Given the description of an element on the screen output the (x, y) to click on. 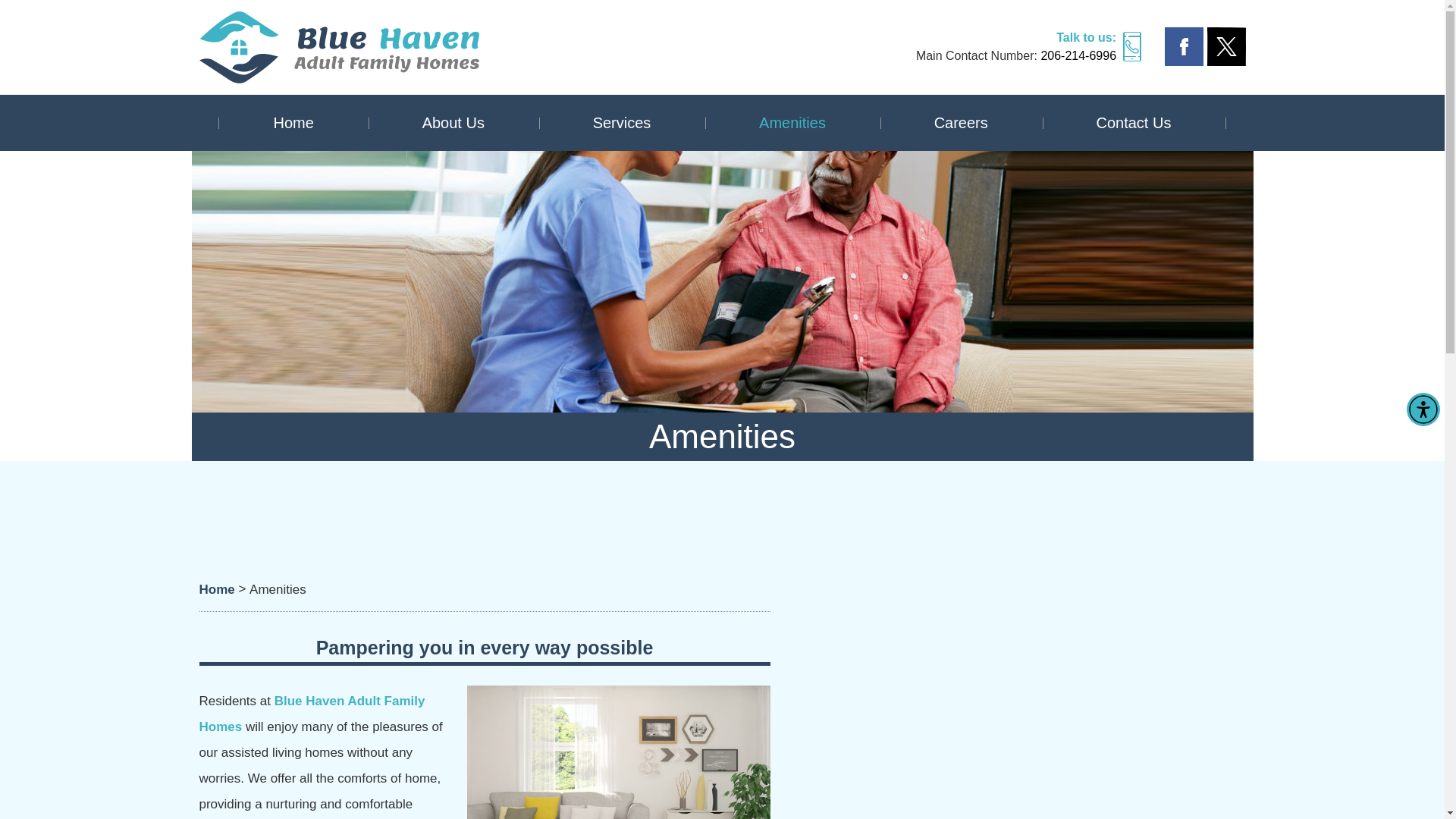
Go to Home. (216, 588)
Careers (961, 122)
Home (216, 588)
Home (293, 122)
Accessibility Menu (1422, 409)
Contact Us (1133, 122)
Amenities (791, 122)
Services (621, 122)
About Us (453, 122)
